Given the description of an element on the screen output the (x, y) to click on. 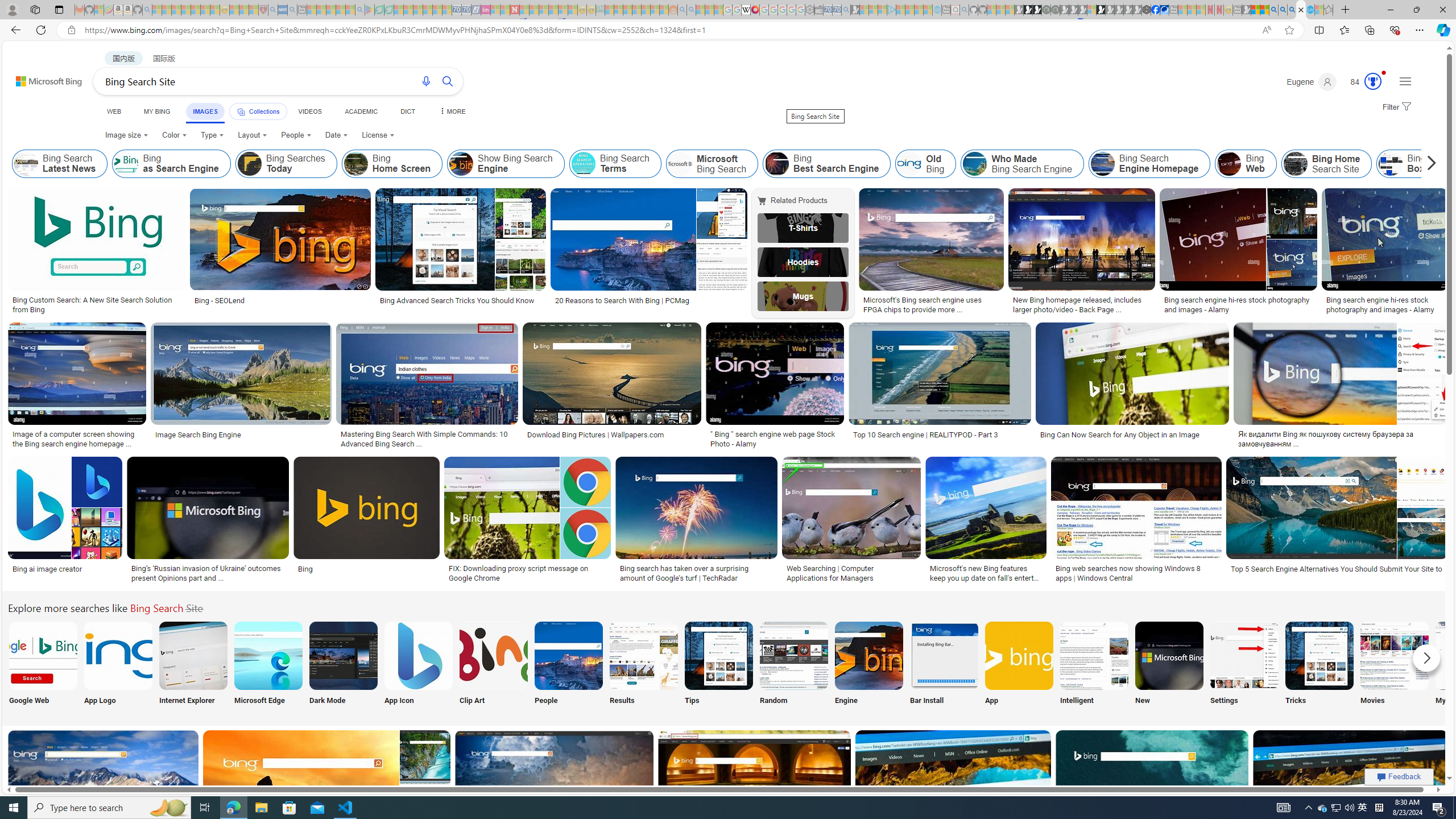
Bing Can Now Search for Any Object in an ImageSave (1134, 387)
Bing T-Shirts (802, 227)
Bing Movies Search Movies (1393, 665)
Hoodies (802, 261)
Bing Best Search Engine (826, 163)
Bing as Search Engine (171, 163)
Who Made Bing Search Engine (974, 163)
Microsoft Bing Search (679, 163)
